Given the description of an element on the screen output the (x, y) to click on. 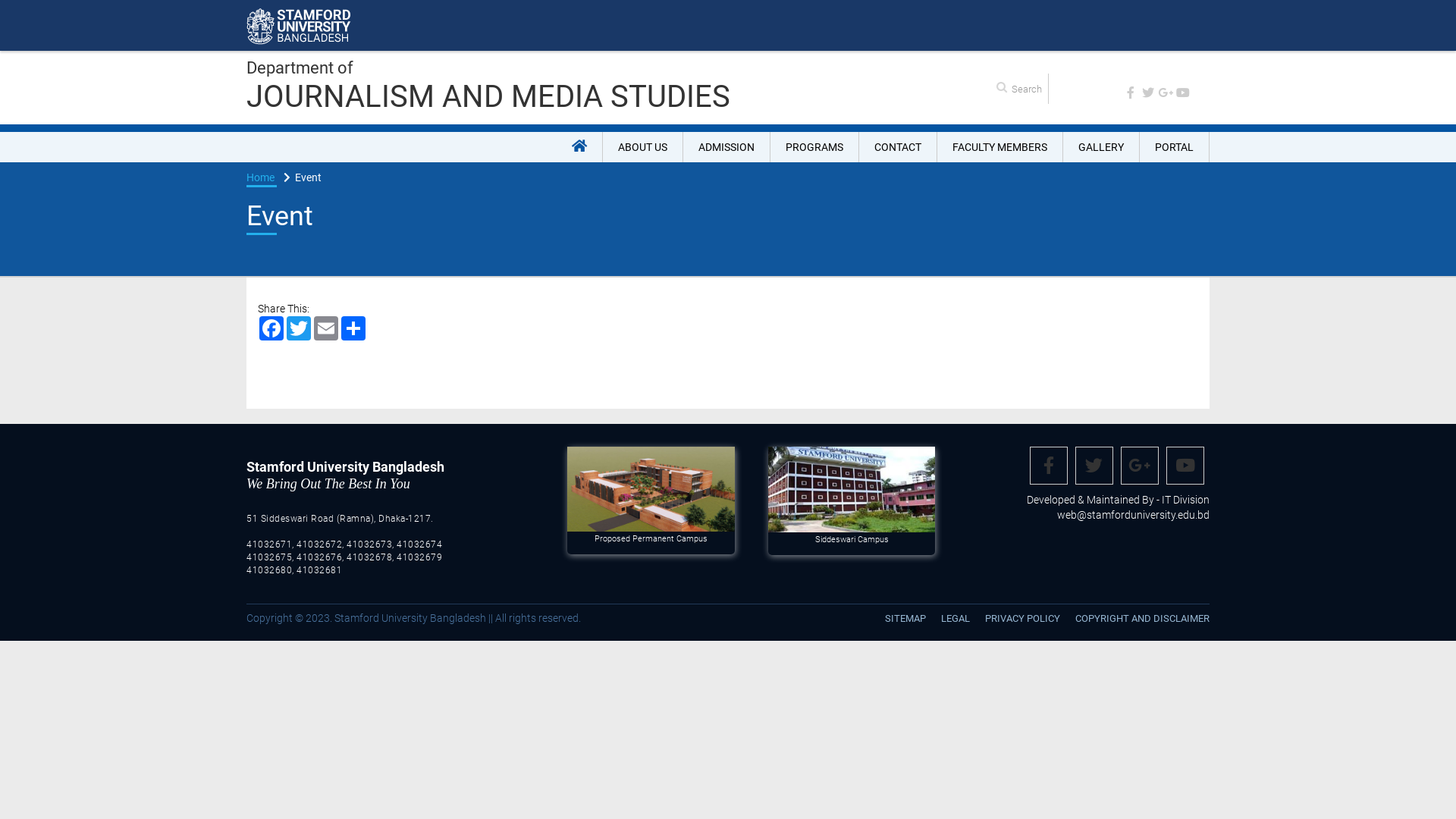
PROGRAMS Element type: text (814, 146)
CONTACT Element type: text (898, 146)
PORTAL Element type: text (1174, 146)
SITEMAP Element type: text (905, 618)
COPYRIGHT AND DISCLAIMER Element type: text (1138, 618)
ABOUT US Element type: text (642, 146)
ADMISSION Element type: text (726, 146)
Email Element type: text (325, 328)
GALLERY Element type: text (1101, 146)
FACULTY MEMBERS Element type: text (1000, 146)
PRIVACY POLICY Element type: text (1022, 618)
Facebook Element type: text (271, 328)
Share Element type: text (353, 328)
Twitter Element type: text (298, 328)
LEGAL Element type: text (955, 618)
